Given the description of an element on the screen output the (x, y) to click on. 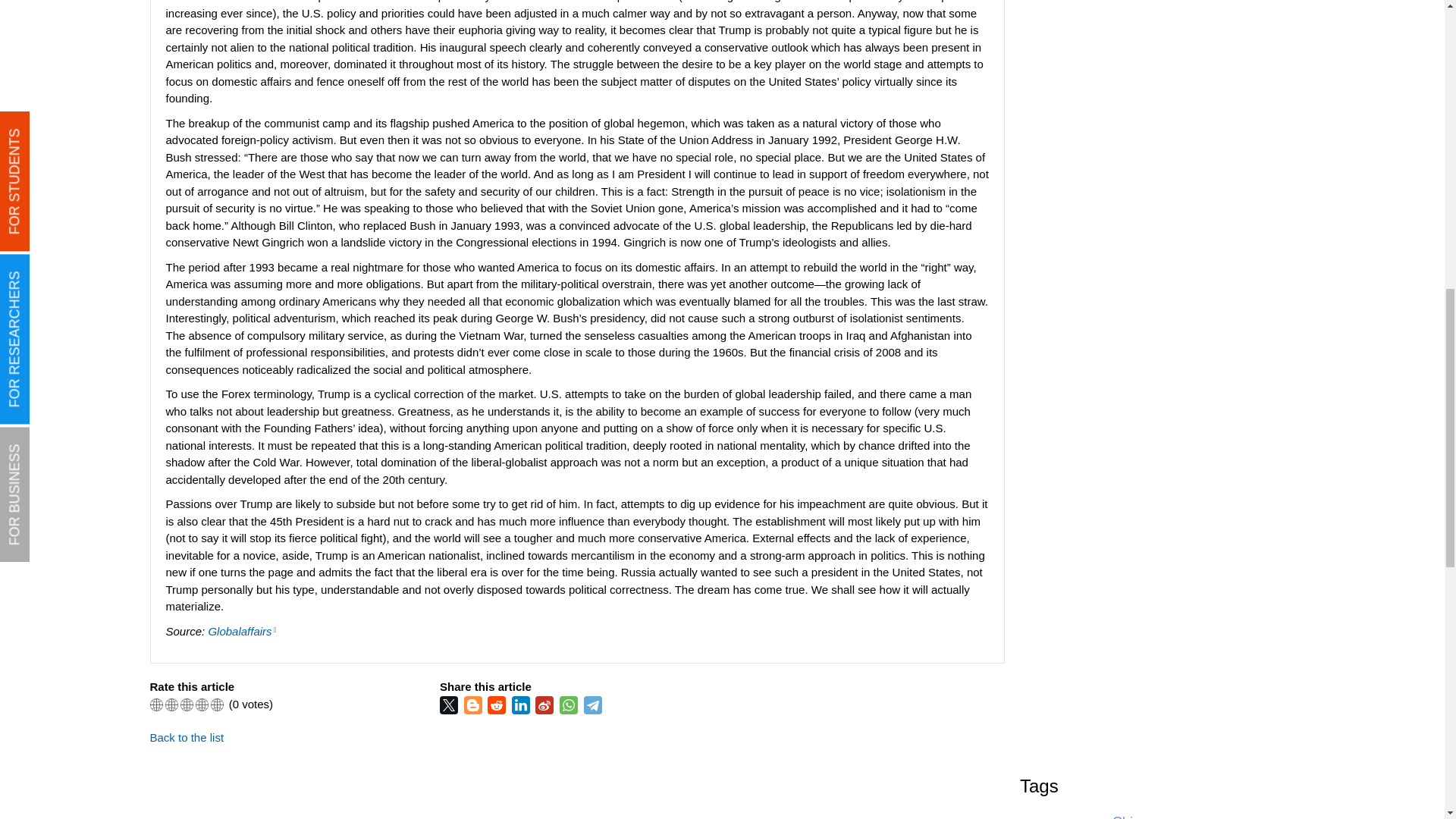
Twitter (450, 705)
Not interested (171, 704)
Highly recommend (217, 704)
Interested (186, 704)
Blogger (474, 705)
I recommend (201, 704)
reddit (497, 705)
I do not recommend (156, 704)
